Given the description of an element on the screen output the (x, y) to click on. 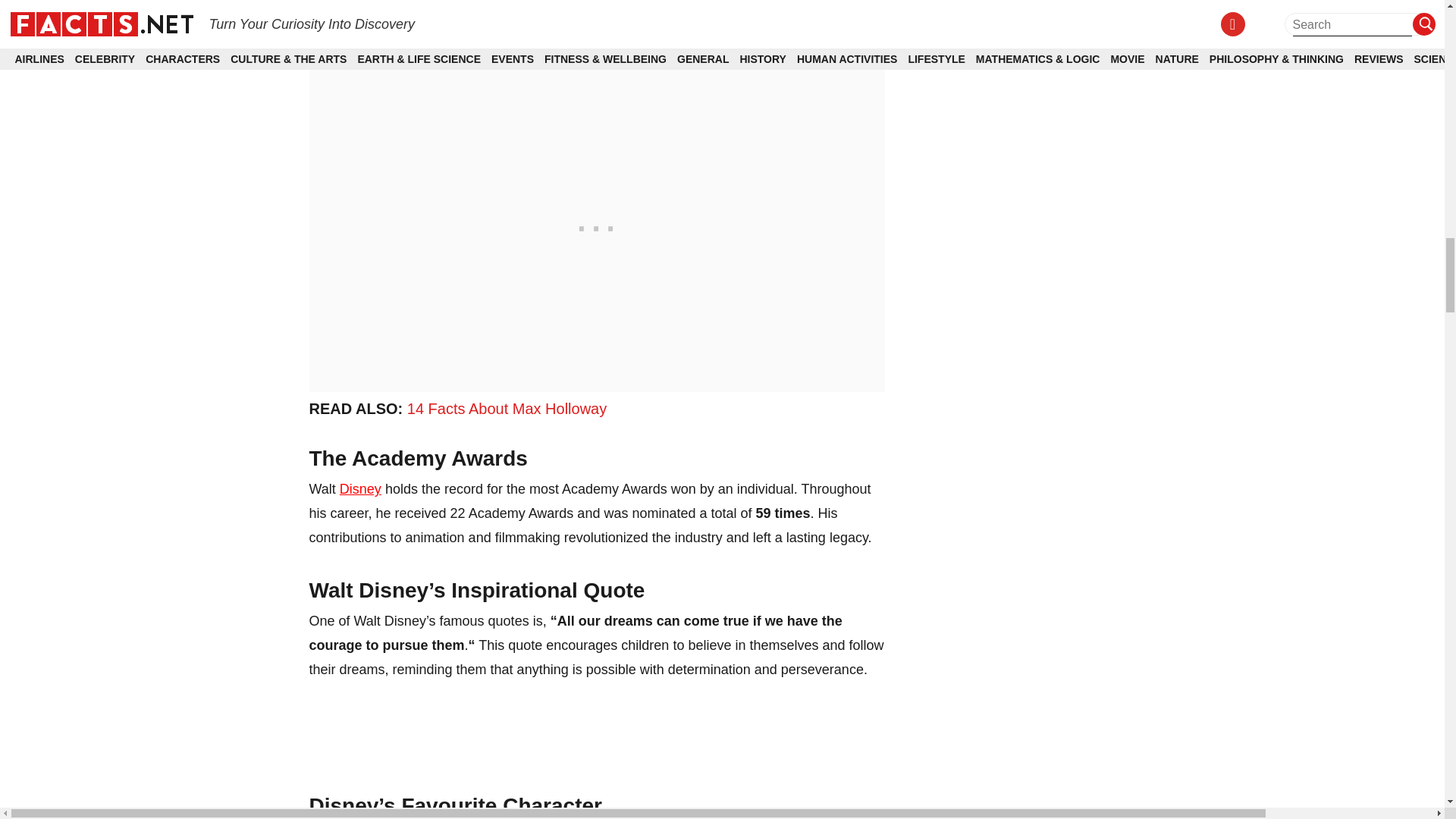
Disney (360, 488)
